Given the description of an element on the screen output the (x, y) to click on. 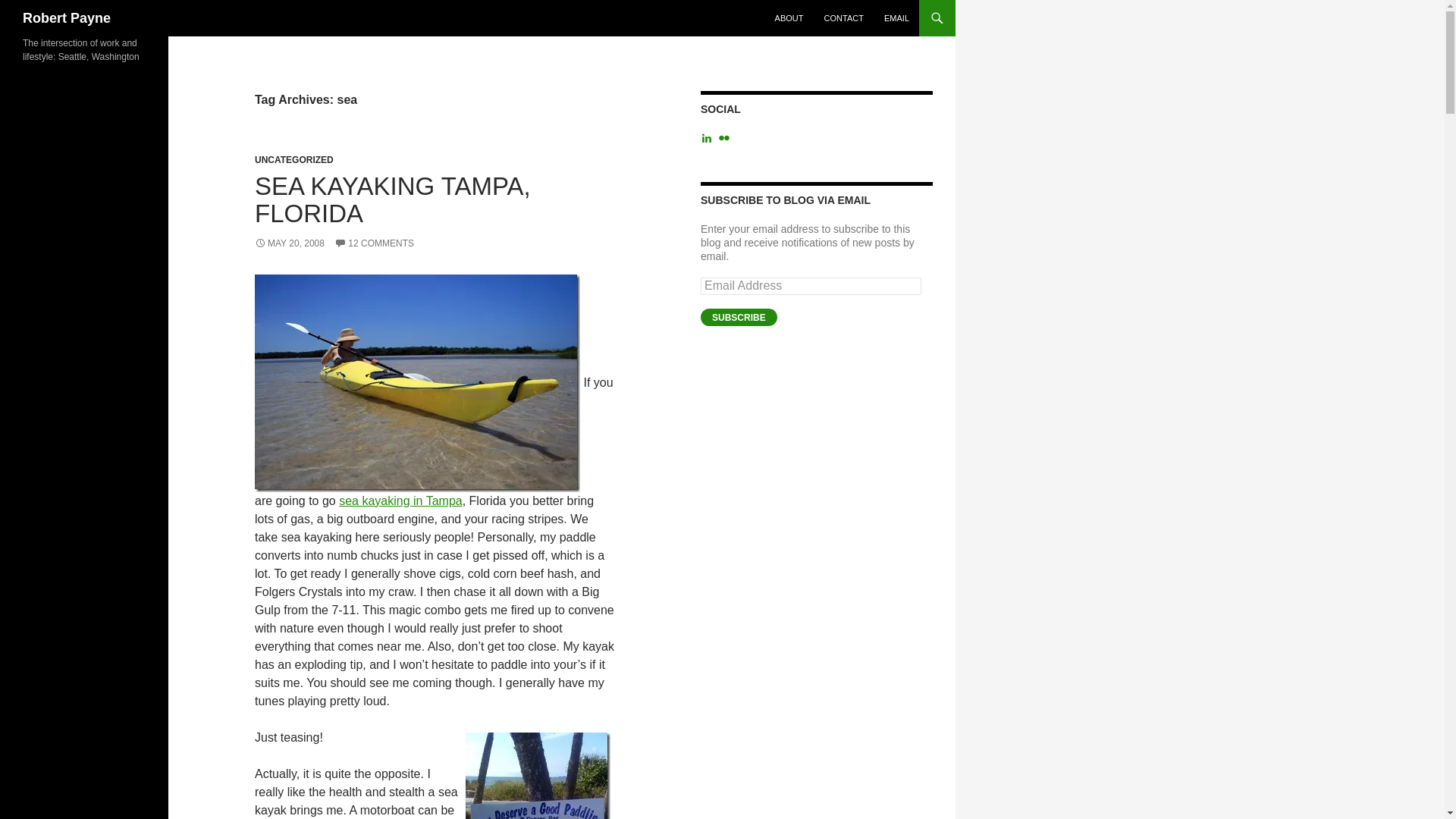
CONTACT (843, 18)
Robert Payne (66, 18)
EMAIL (896, 18)
MAY 20, 2008 (289, 243)
UNCATEGORIZED (293, 159)
SEA KAYAKING TAMPA, FLORIDA (392, 199)
12 COMMENTS (373, 243)
sea kayaking in Tampa (400, 500)
ABOUT (788, 18)
